Given the description of an element on the screen output the (x, y) to click on. 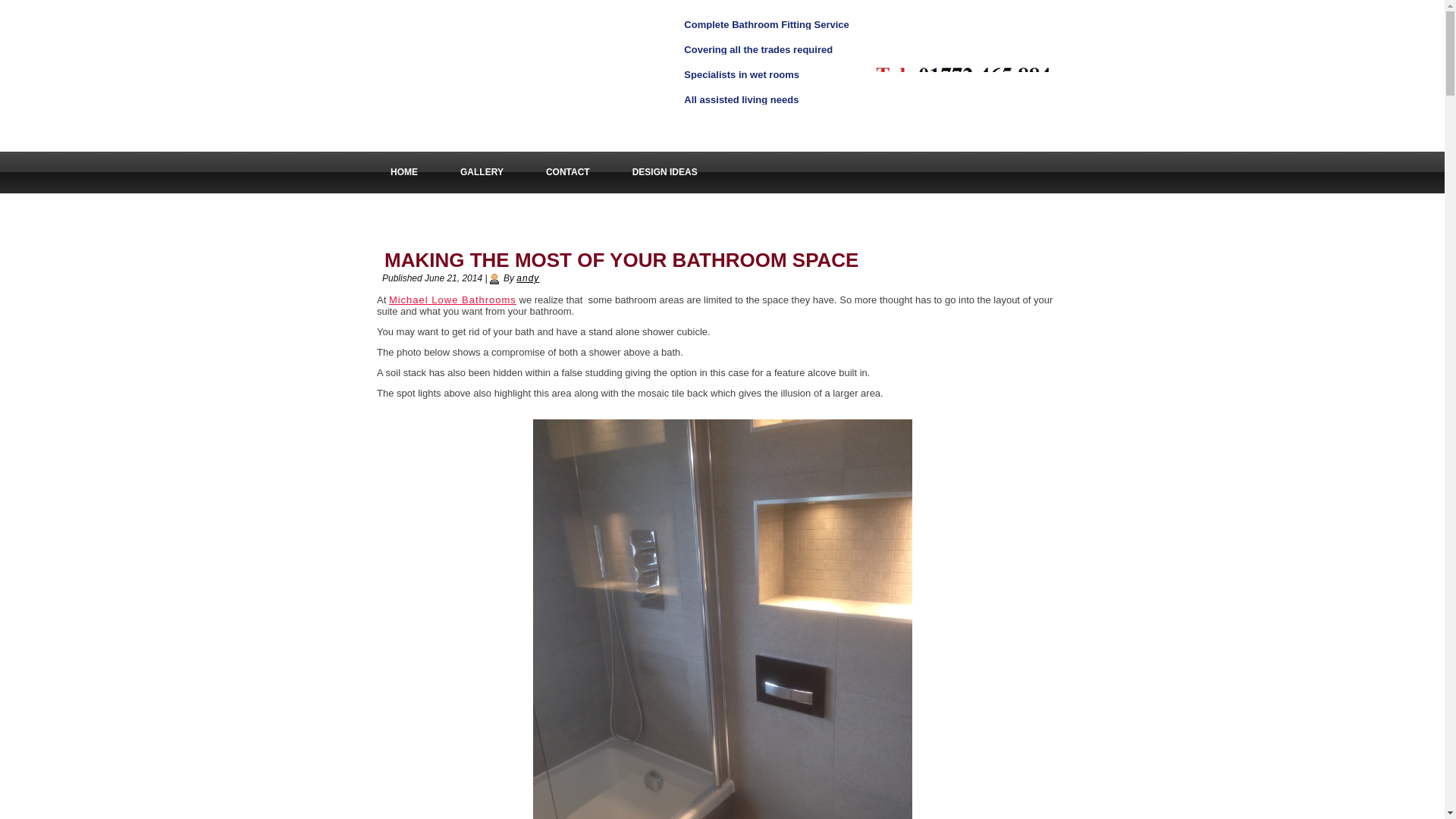
GALLERY (481, 172)
Michael Lowe Bathrooms (452, 299)
Bathrooms Preston (452, 299)
HOME (404, 172)
View all posts by andy (527, 277)
andy (527, 277)
Design Ideas (665, 172)
GALLERY (481, 172)
DESIGN IDEAS (665, 172)
10:41 am (453, 277)
Making the most of your bathroom space (621, 259)
Home (404, 172)
Contact (567, 172)
CONTACT (567, 172)
